Given the description of an element on the screen output the (x, y) to click on. 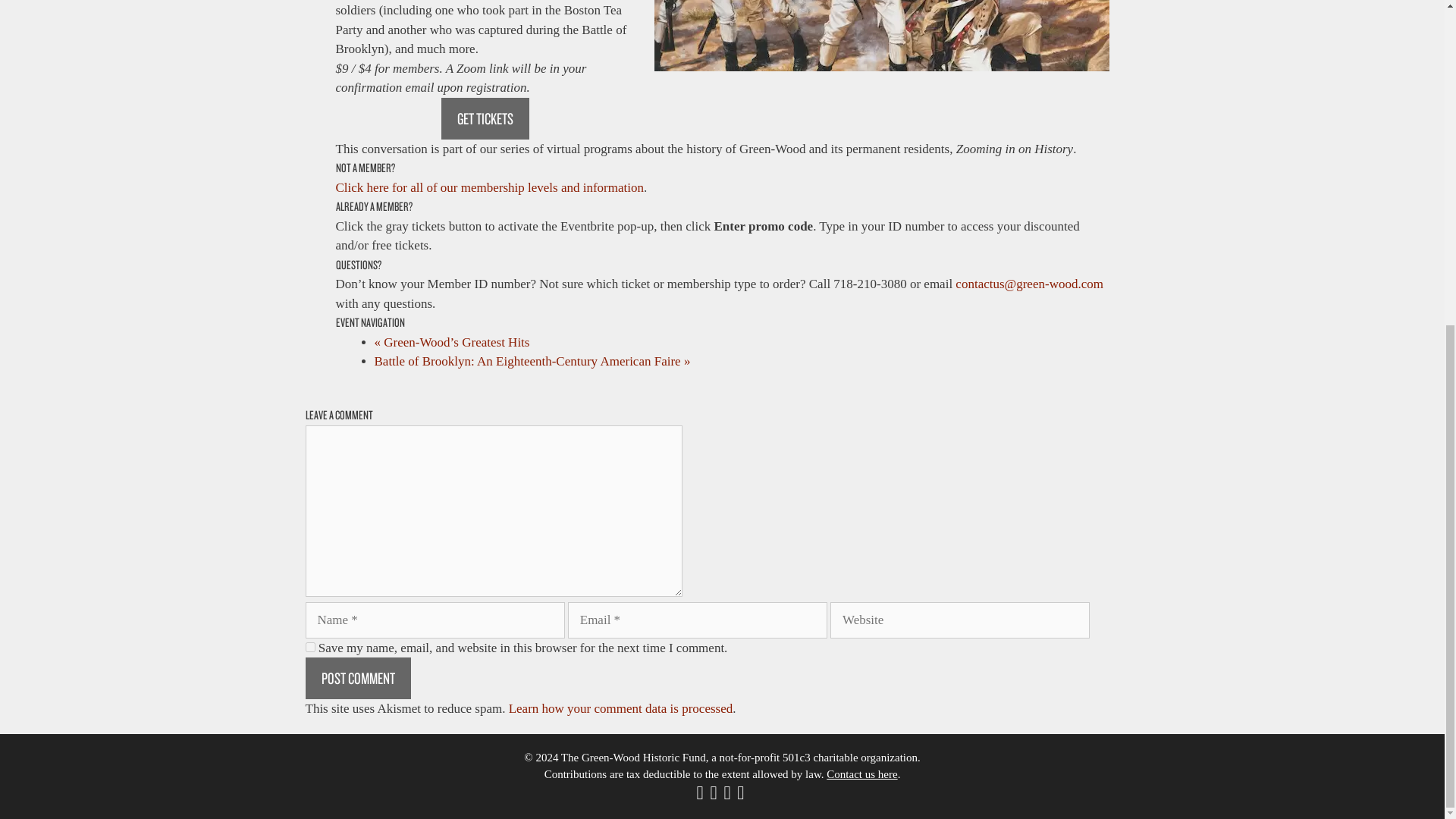
Post Comment (357, 678)
yes (309, 646)
